Given the description of an element on the screen output the (x, y) to click on. 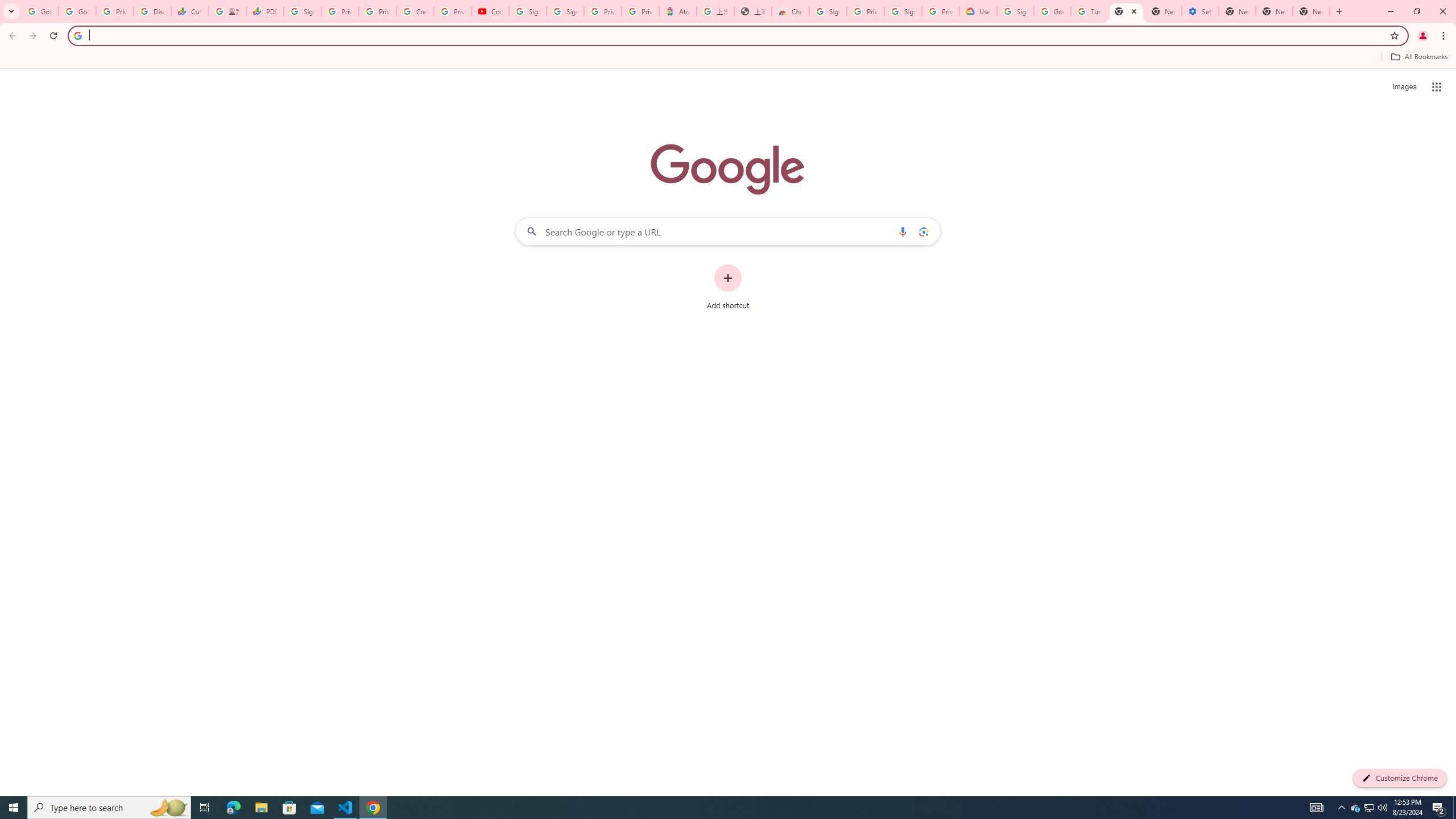
Atour Hotel - Google hotels (677, 11)
New Tab (1311, 11)
Sign in - Google Accounts (302, 11)
Currencies - Google Finance (189, 11)
Sign in - Google Accounts (565, 11)
